Given the description of an element on the screen output the (x, y) to click on. 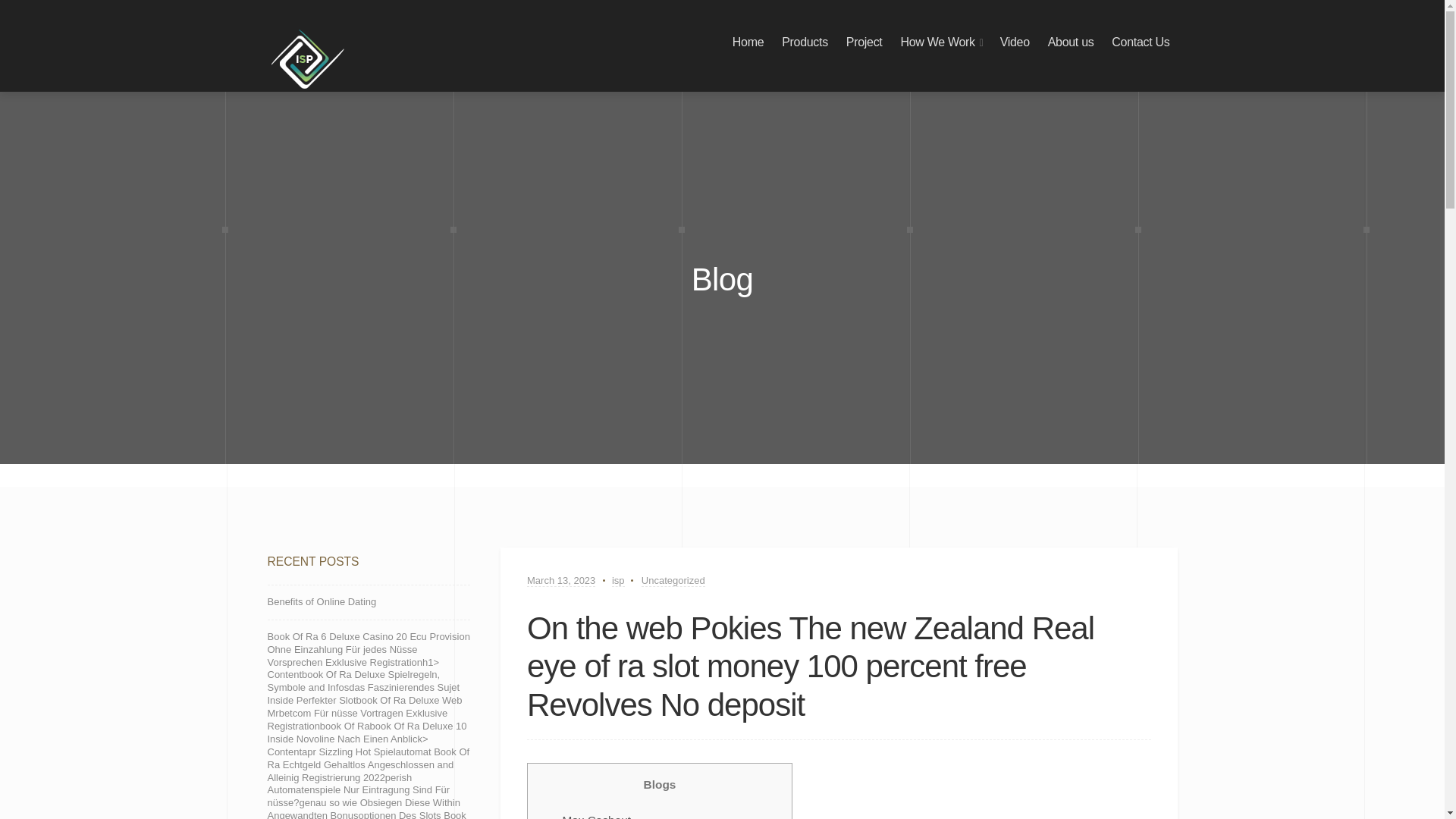
Max Cashout (596, 816)
Uncategorized (673, 580)
isp (617, 580)
Benefits of Online Dating (320, 602)
How We Work (936, 42)
March 13, 2023 (561, 580)
